Given the description of an element on the screen output the (x, y) to click on. 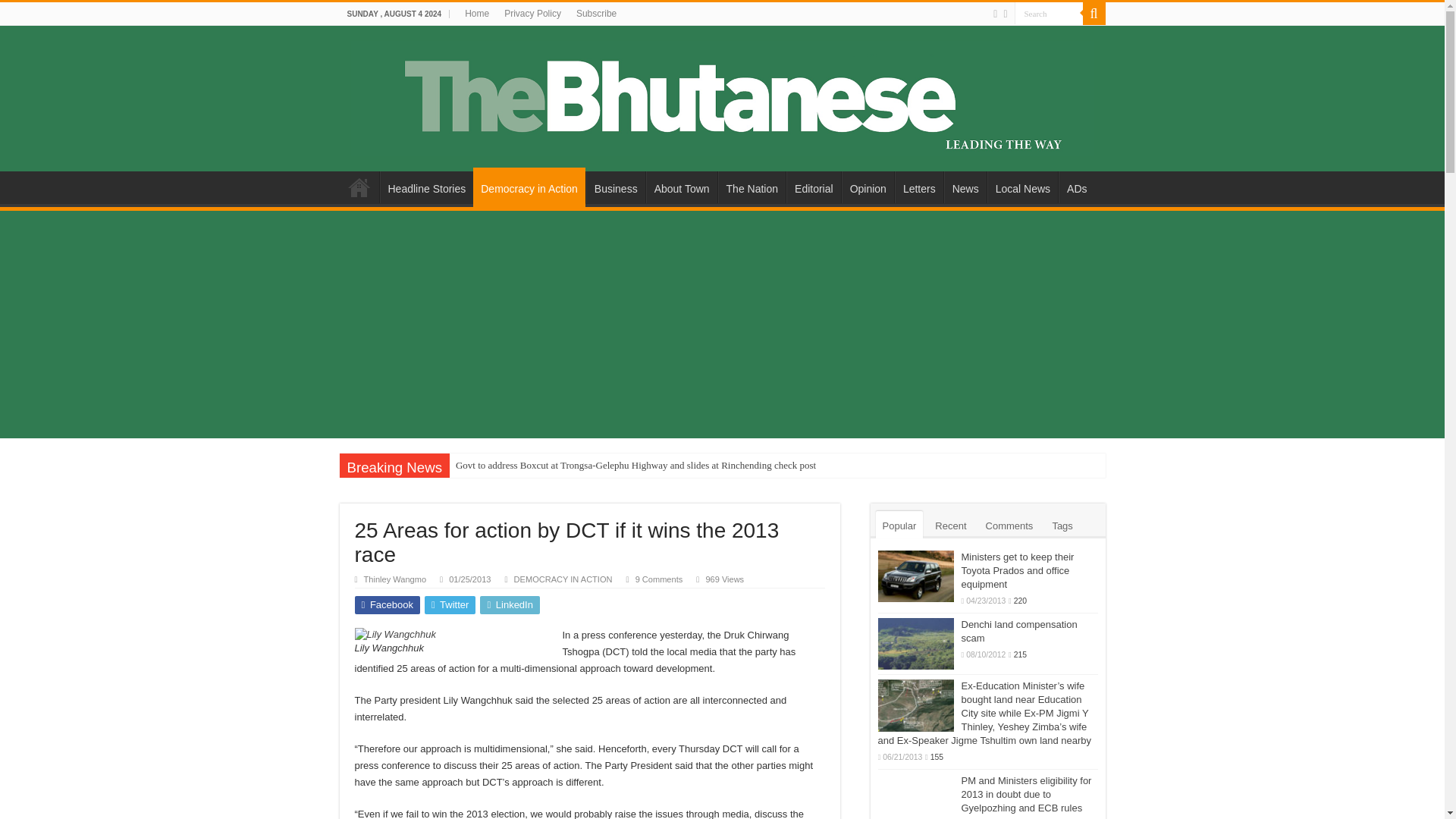
ADs (1076, 187)
Twitter (1005, 13)
Search (1048, 13)
HOME (358, 187)
Editorial (813, 187)
Privacy Policy (532, 13)
Business (615, 187)
News (965, 187)
Subscribe (596, 13)
Democracy in Action (529, 187)
Search (1048, 13)
Headline Stories (425, 187)
The Nation (751, 187)
